Given the description of an element on the screen output the (x, y) to click on. 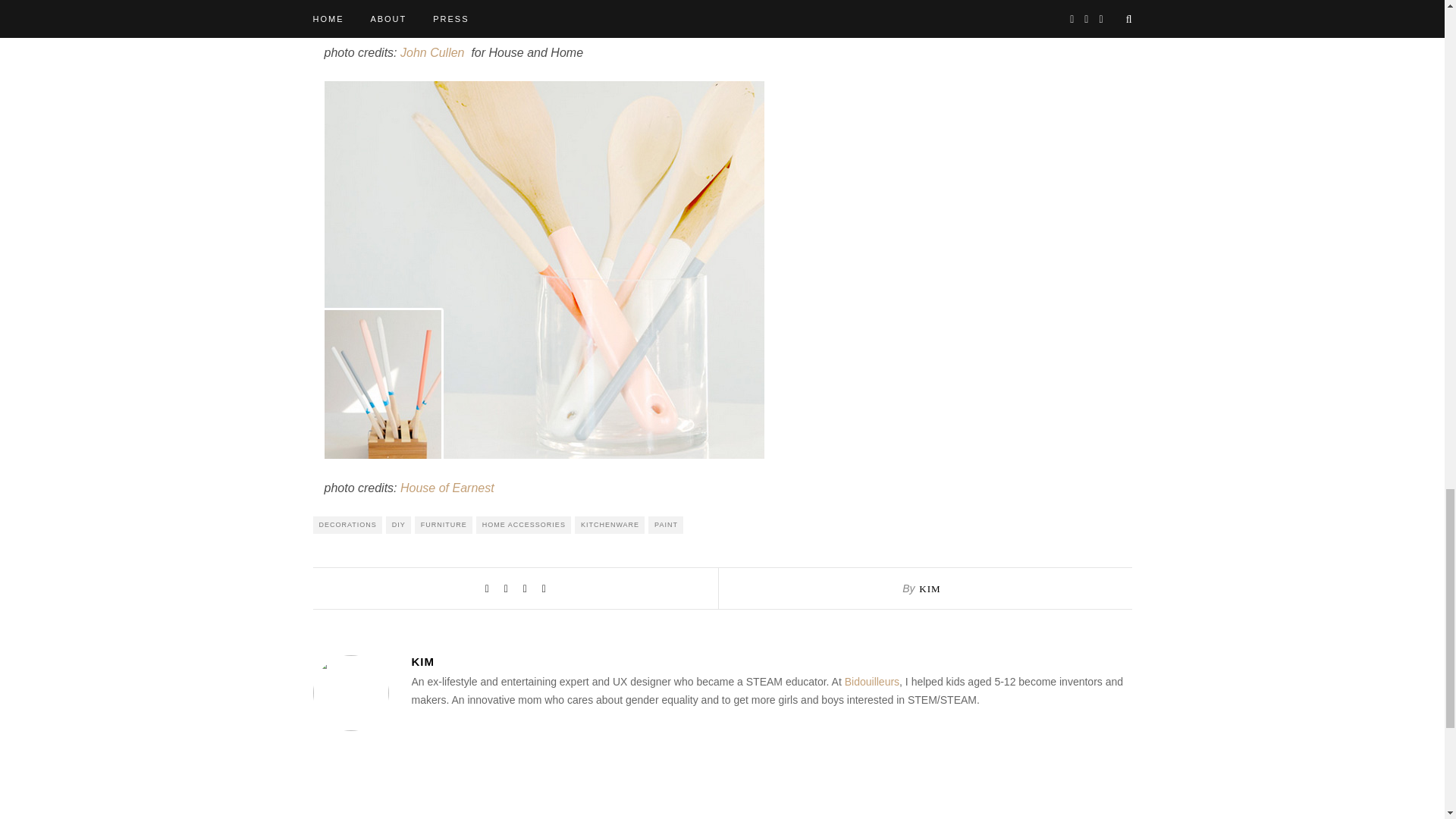
HOME ACCESSORIES (523, 524)
KITCHENWARE (610, 524)
paint dipped chair (544, 11)
Posts by Kim (929, 588)
KIM (770, 661)
Bidouilleurs (871, 681)
FURNITURE (442, 524)
House of Earnest (447, 487)
KIM (929, 588)
PAINT (664, 524)
DECORATIONS (347, 524)
DIY (397, 524)
Posts by Kim (770, 661)
John Cullen (432, 51)
